Given the description of an element on the screen output the (x, y) to click on. 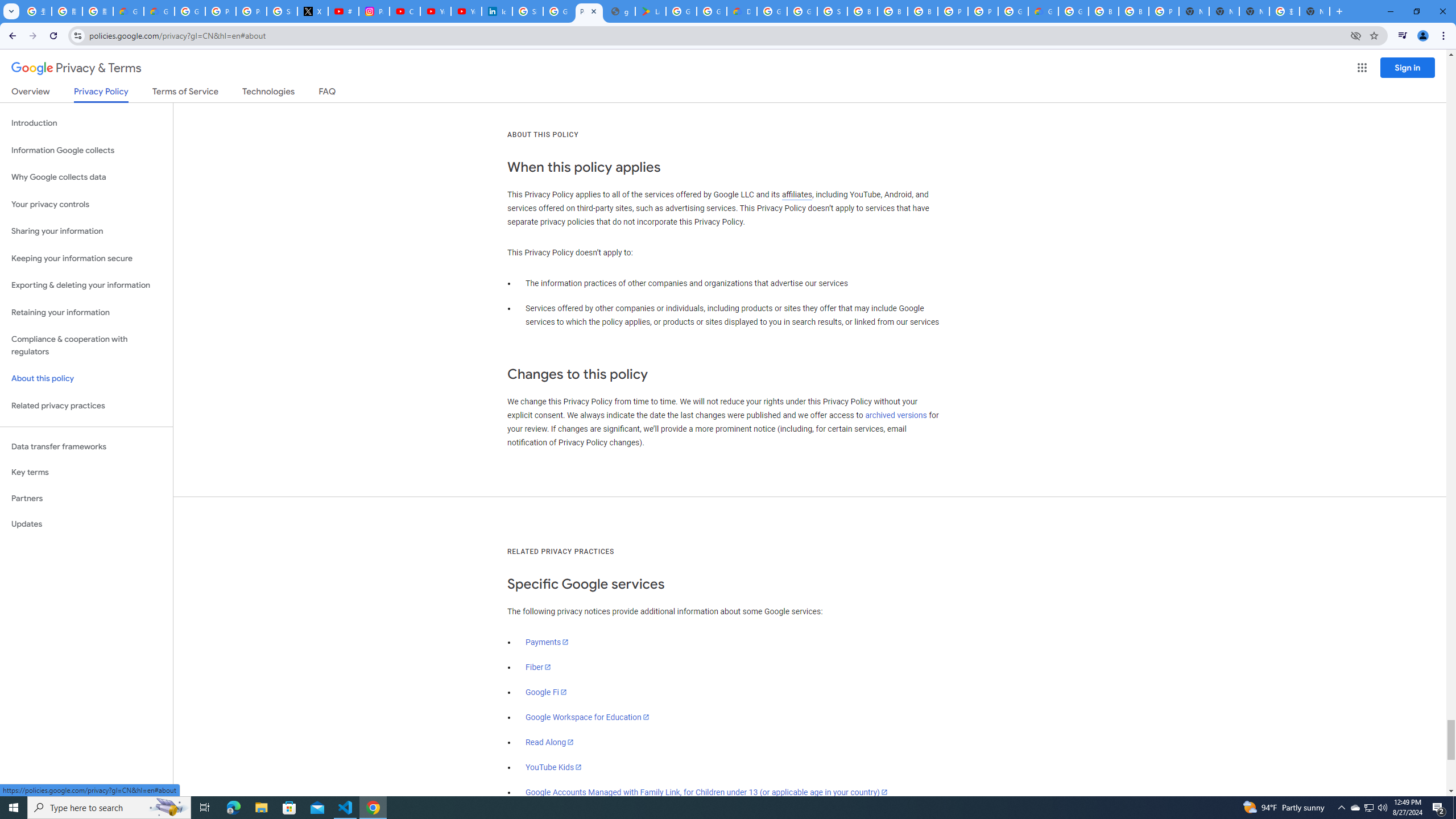
Google Cloud Privacy Notice (127, 11)
Google Fi (545, 691)
affiliates (796, 194)
